Given the description of an element on the screen output the (x, y) to click on. 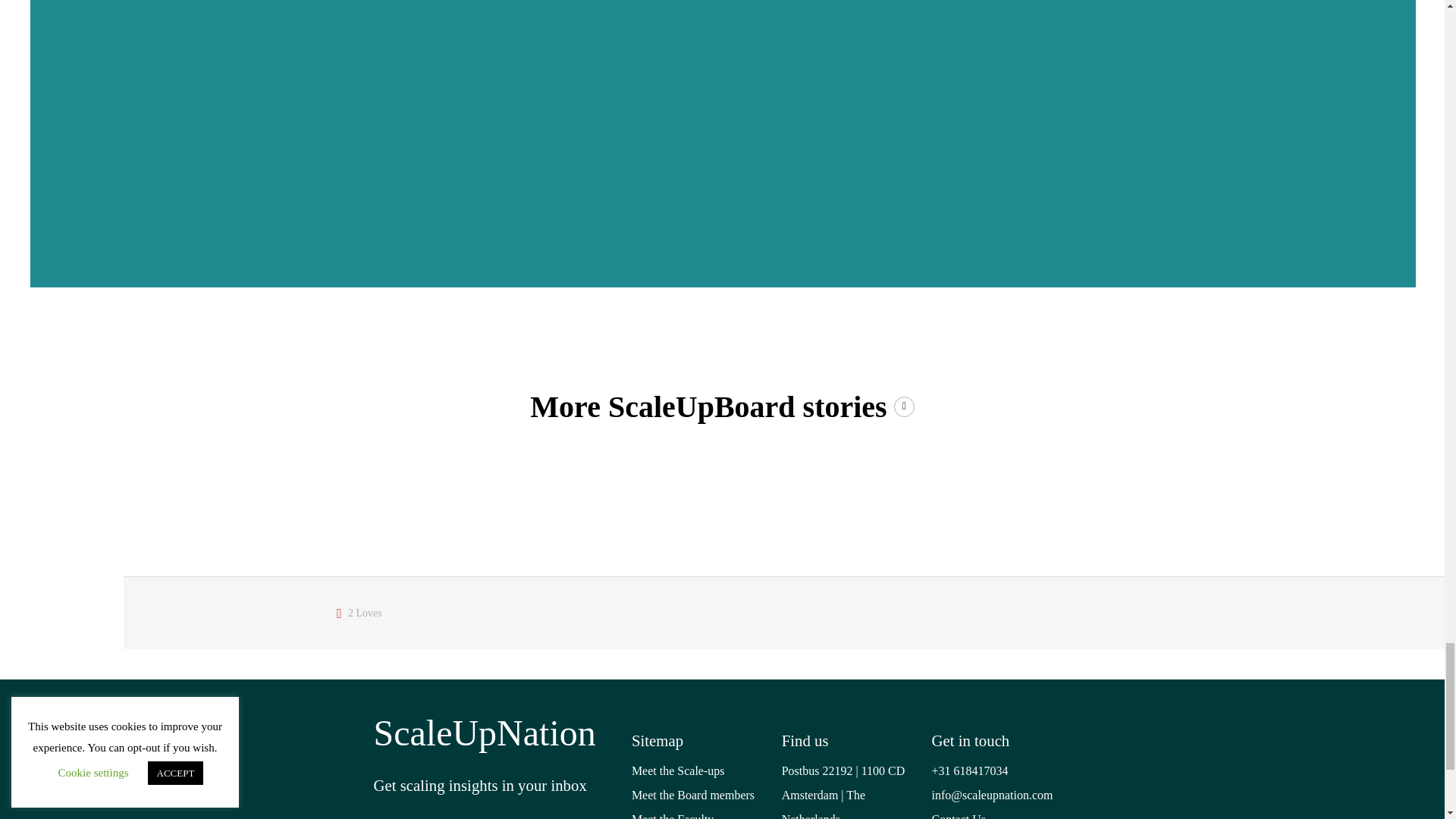
Love this (359, 612)
